Given the description of an element on the screen output the (x, y) to click on. 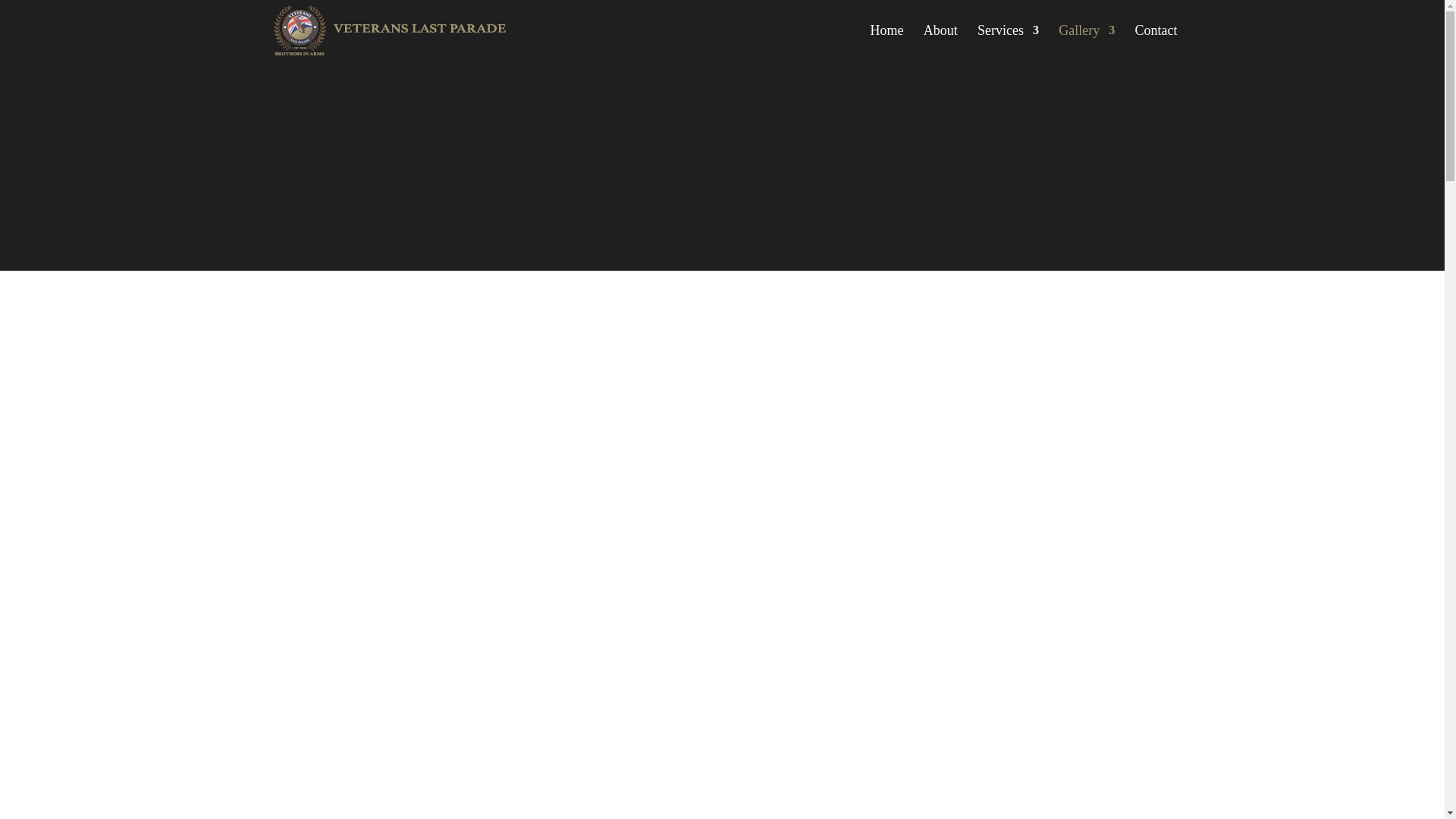
Gallery (1086, 42)
Contact (1155, 42)
Services (1007, 42)
Home (887, 42)
About (940, 42)
